Given the description of an element on the screen output the (x, y) to click on. 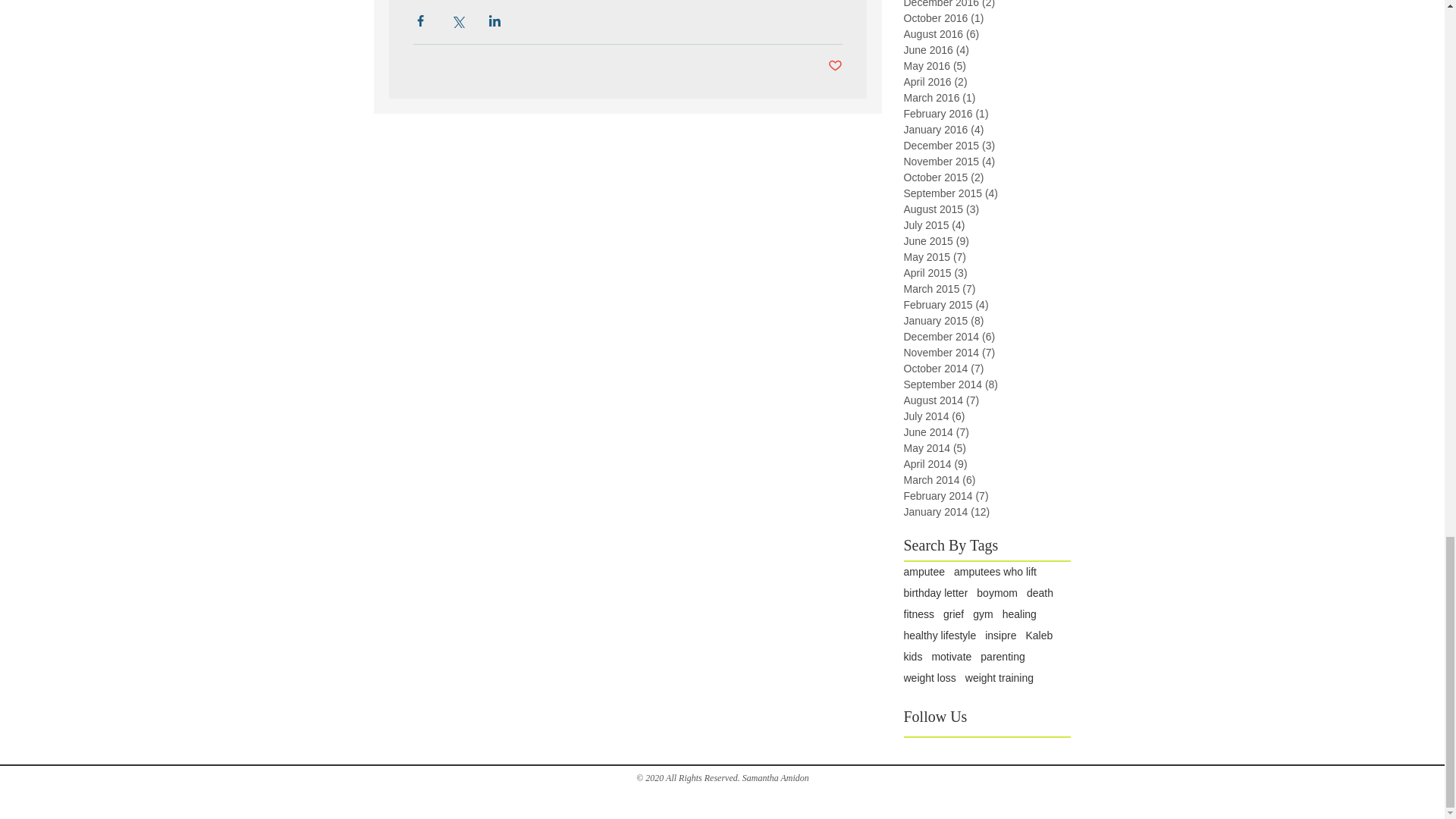
Post not marked as liked (835, 66)
